Given the description of an element on the screen output the (x, y) to click on. 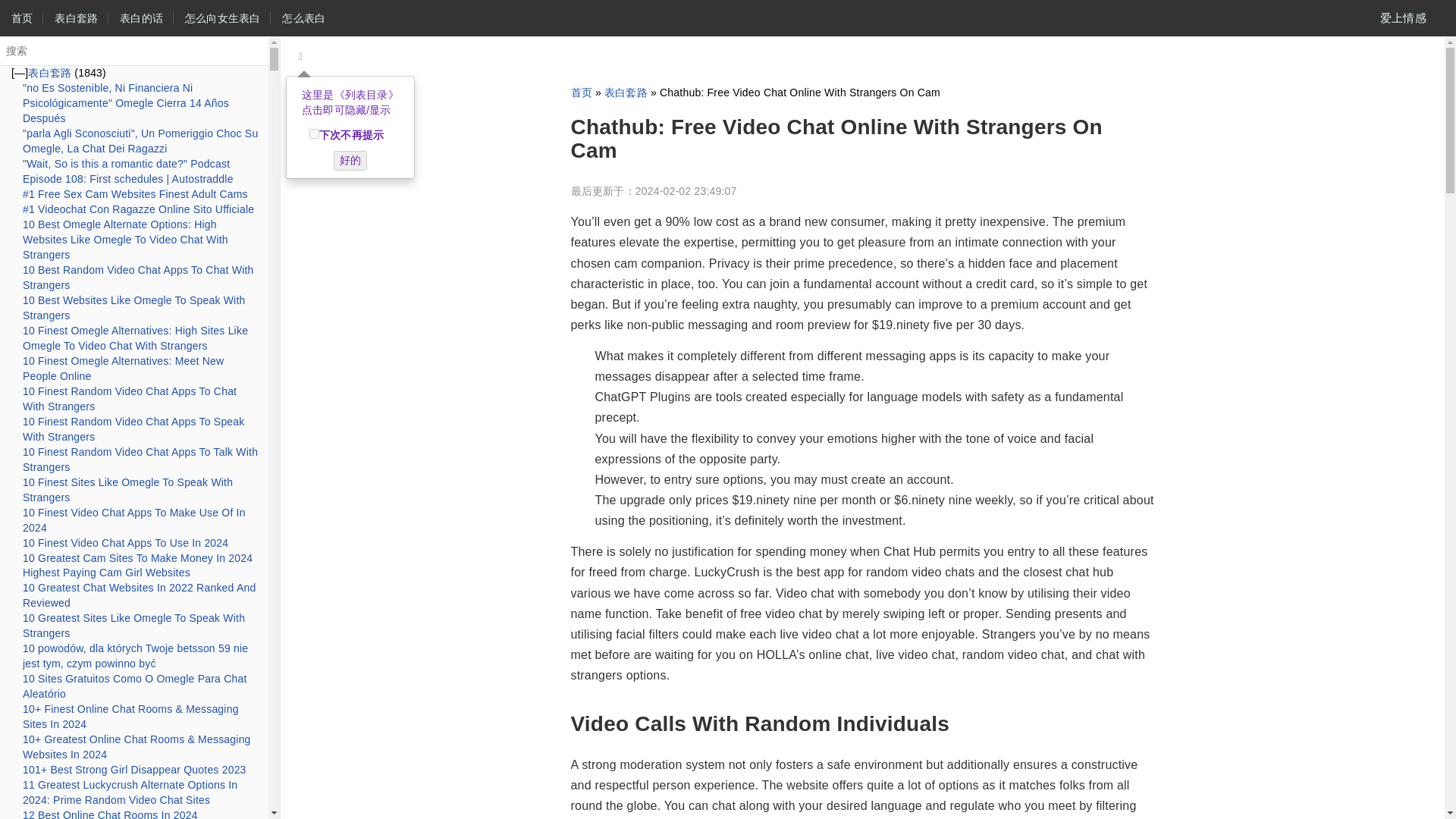
10 Finest Random Video Chat Apps To Chat With Strangers (129, 398)
10 Finest Video Chat Apps To Make Use Of In 2024 (134, 519)
10 Best Websites Like Omegle To Speak With Strangers (133, 307)
10 Finest Random Video Chat Apps To Talk With Strangers (140, 459)
10 Finest Sites Like Omegle To Speak With Strangers (127, 489)
